Given the description of an element on the screen output the (x, y) to click on. 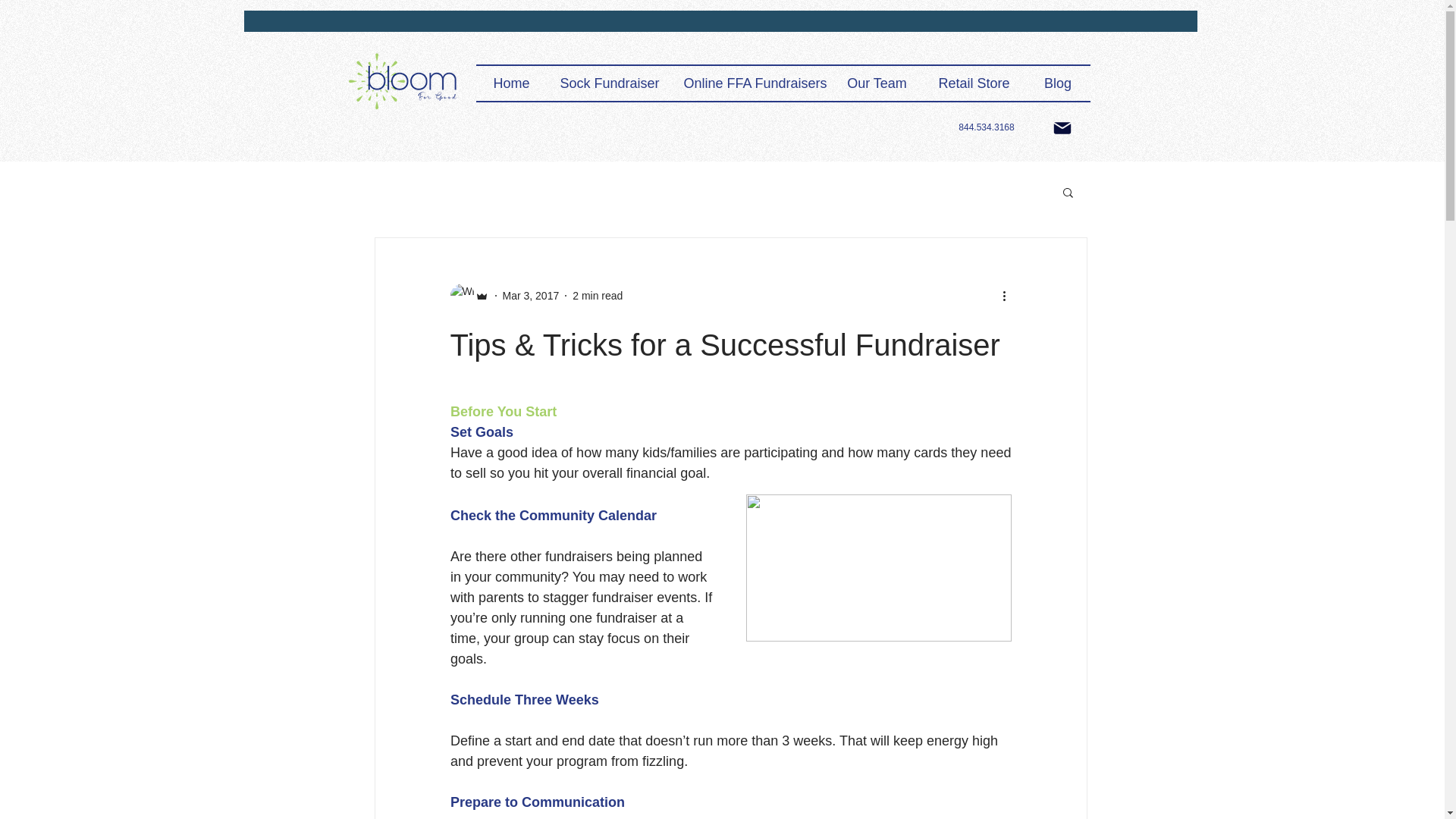
Mar 3, 2017 (530, 295)
Our Team (876, 83)
Online FFA Fundraisers (751, 83)
Home (511, 83)
Blog (1057, 83)
Retail Store (973, 83)
Sock Fundraiser (609, 83)
2 min read (597, 295)
Bloom - Helping Communities Grow (403, 81)
